Given the description of an element on the screen output the (x, y) to click on. 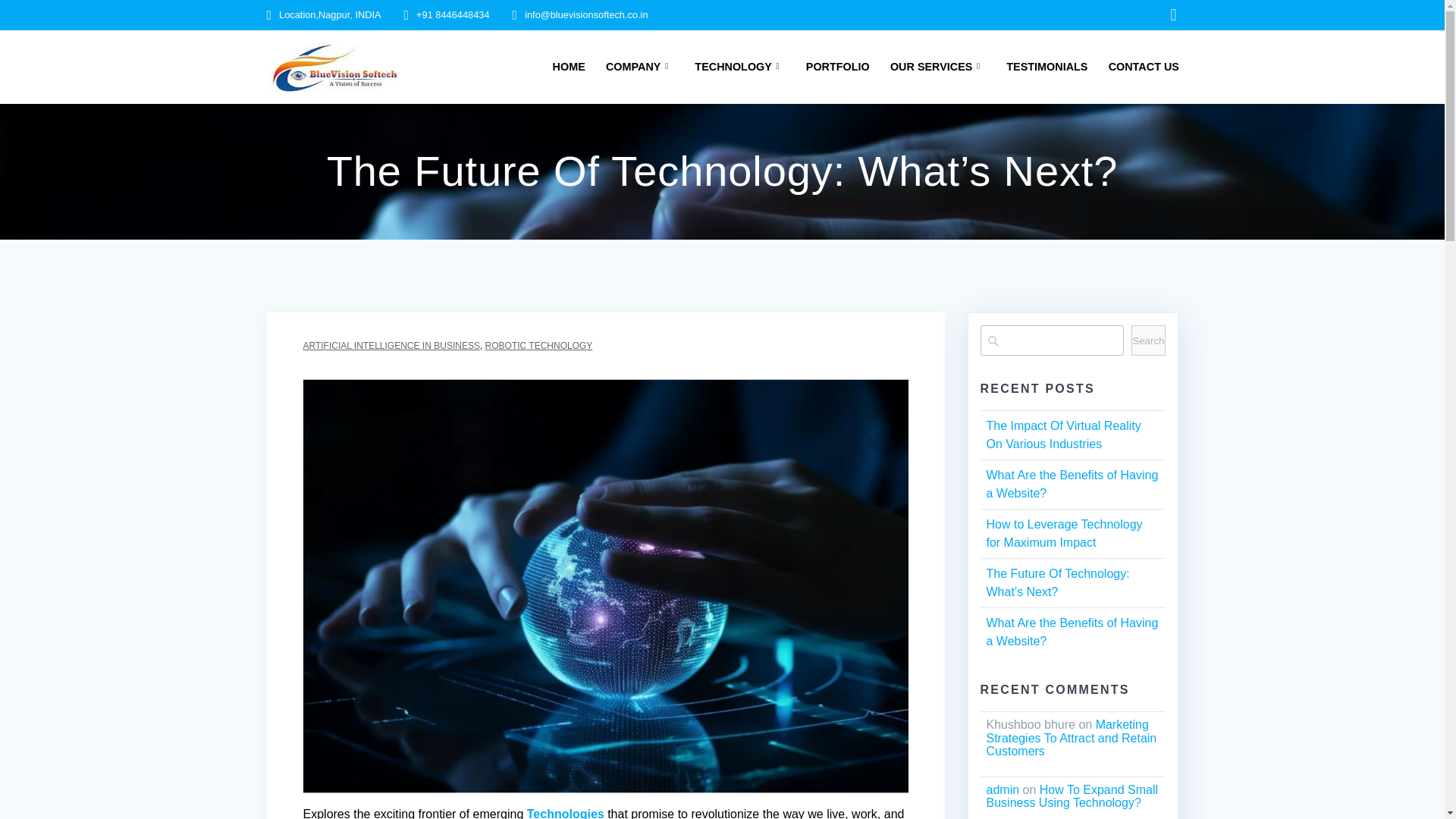
HOME (569, 67)
OUR SERVICES (937, 67)
CONTACT US (1143, 67)
PORTFOLIO (837, 67)
COMPANY (639, 67)
TECHNOLOGY (739, 67)
TESTIMONIALS (1046, 67)
